Given the description of an element on the screen output the (x, y) to click on. 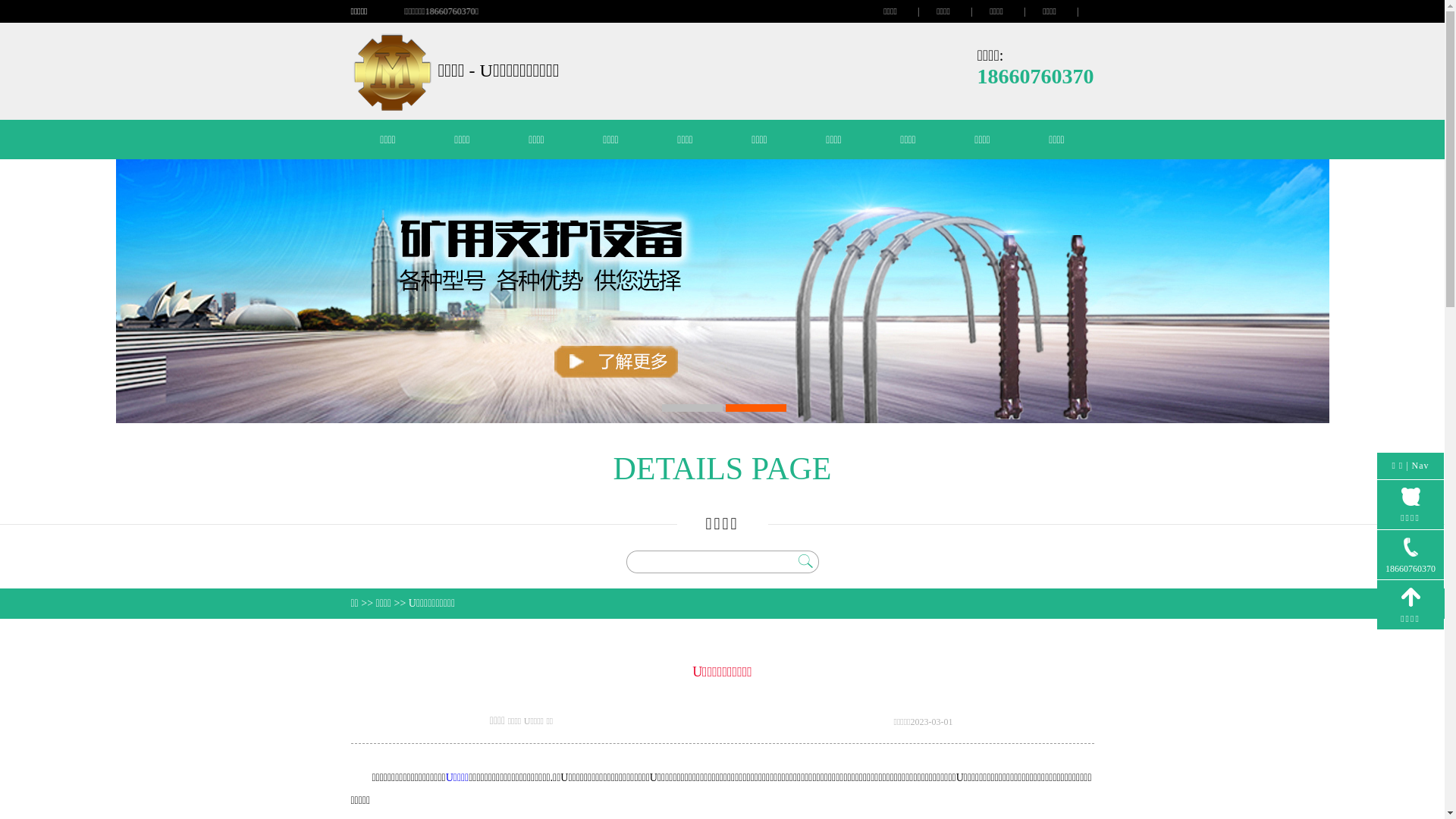
1 Element type: text (691, 407)
18660760370 Element type: text (1410, 555)
2 Element type: text (754, 407)
